Given the description of an element on the screen output the (x, y) to click on. 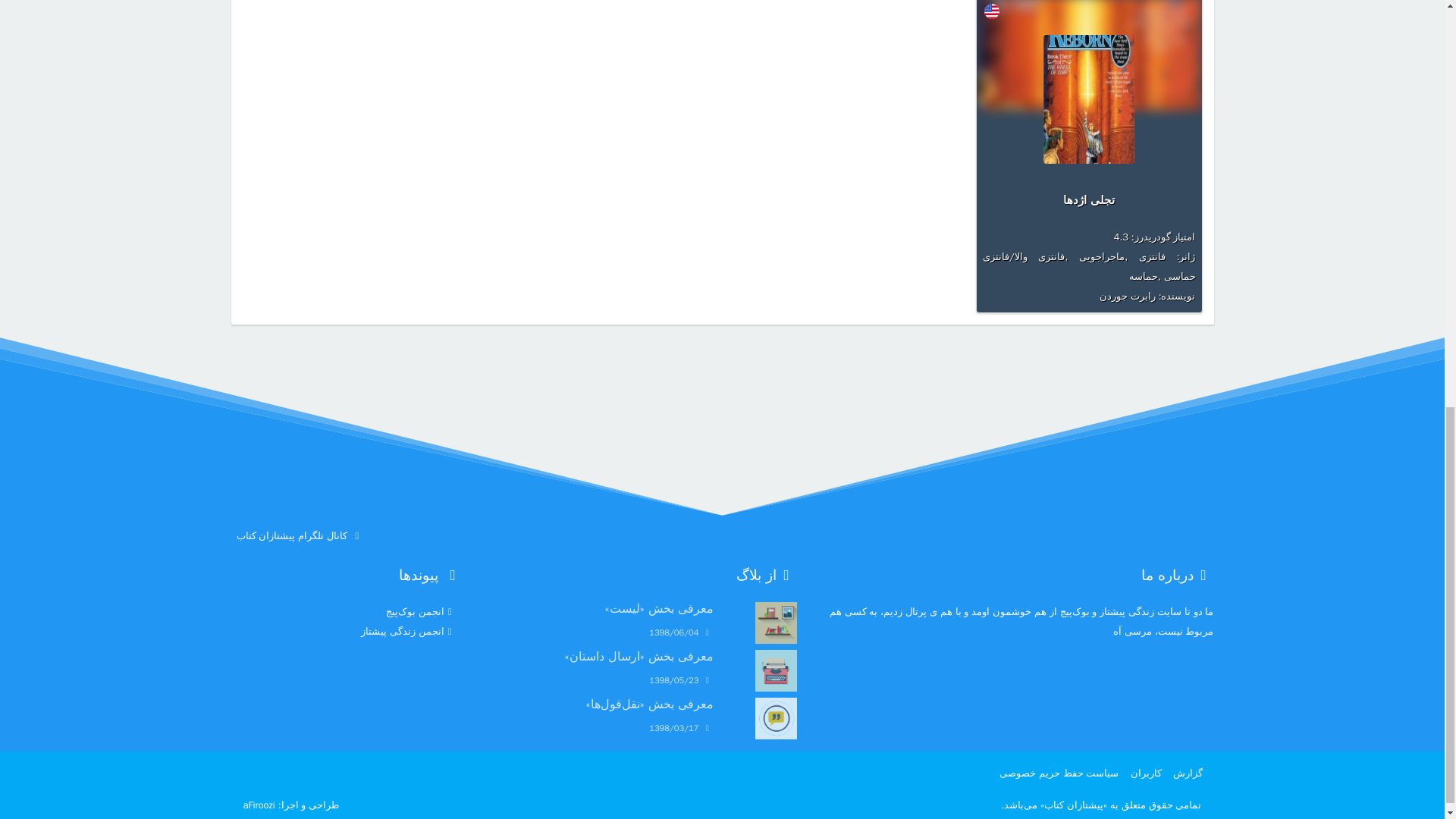
aFiroozi (259, 805)
